Given the description of an element on the screen output the (x, y) to click on. 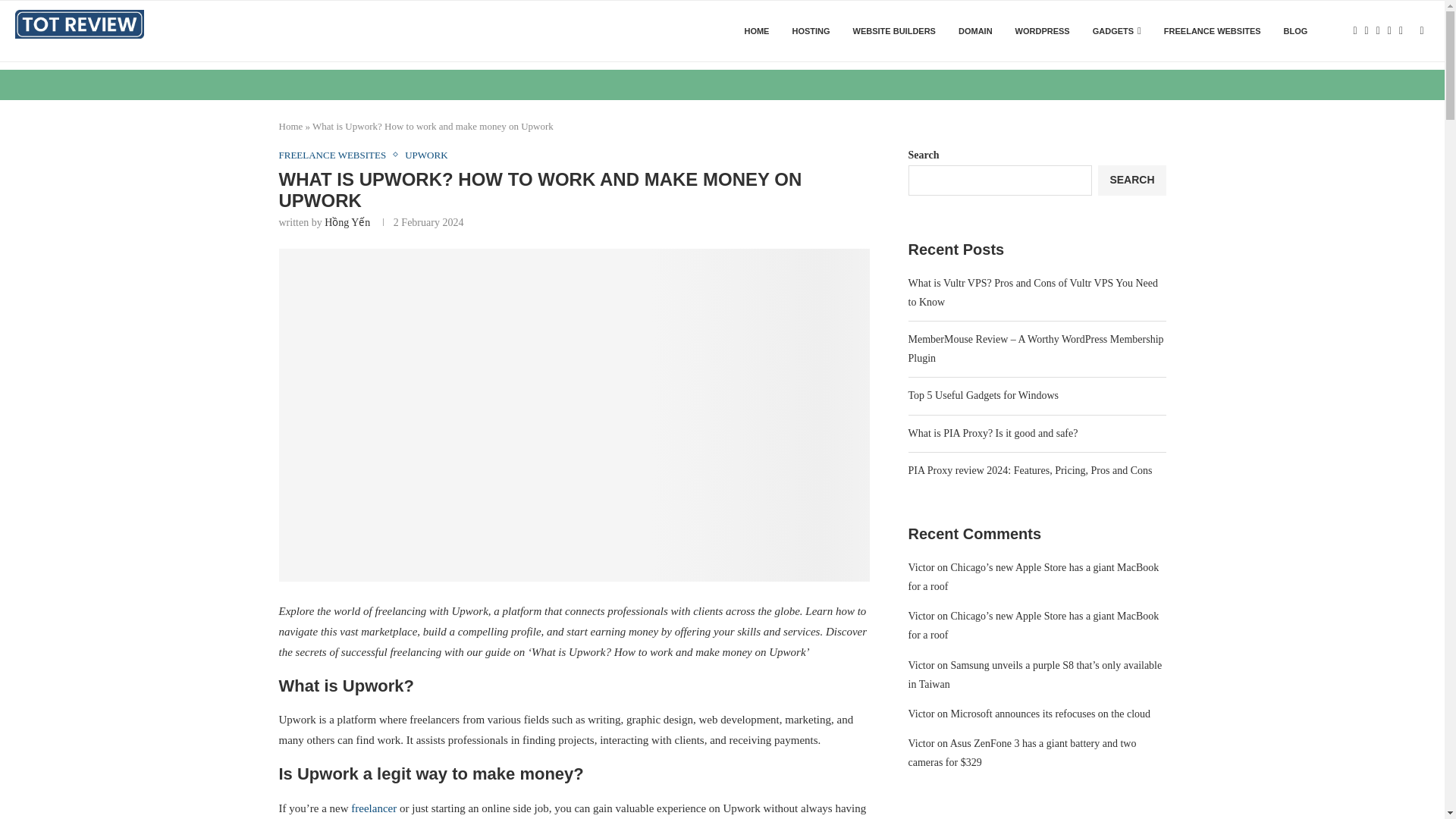
UPWORK (425, 155)
FREELANCE WEBSITES (336, 155)
HOSTING (810, 30)
HOME (756, 30)
FREELANCE WEBSITES (1211, 30)
WORDPRESS (1042, 30)
WEBSITE BUILDERS (894, 30)
GADGETS (1117, 30)
Home (290, 125)
BLOG (1295, 30)
DOMAIN (975, 30)
freelancer (373, 808)
